Given the description of an element on the screen output the (x, y) to click on. 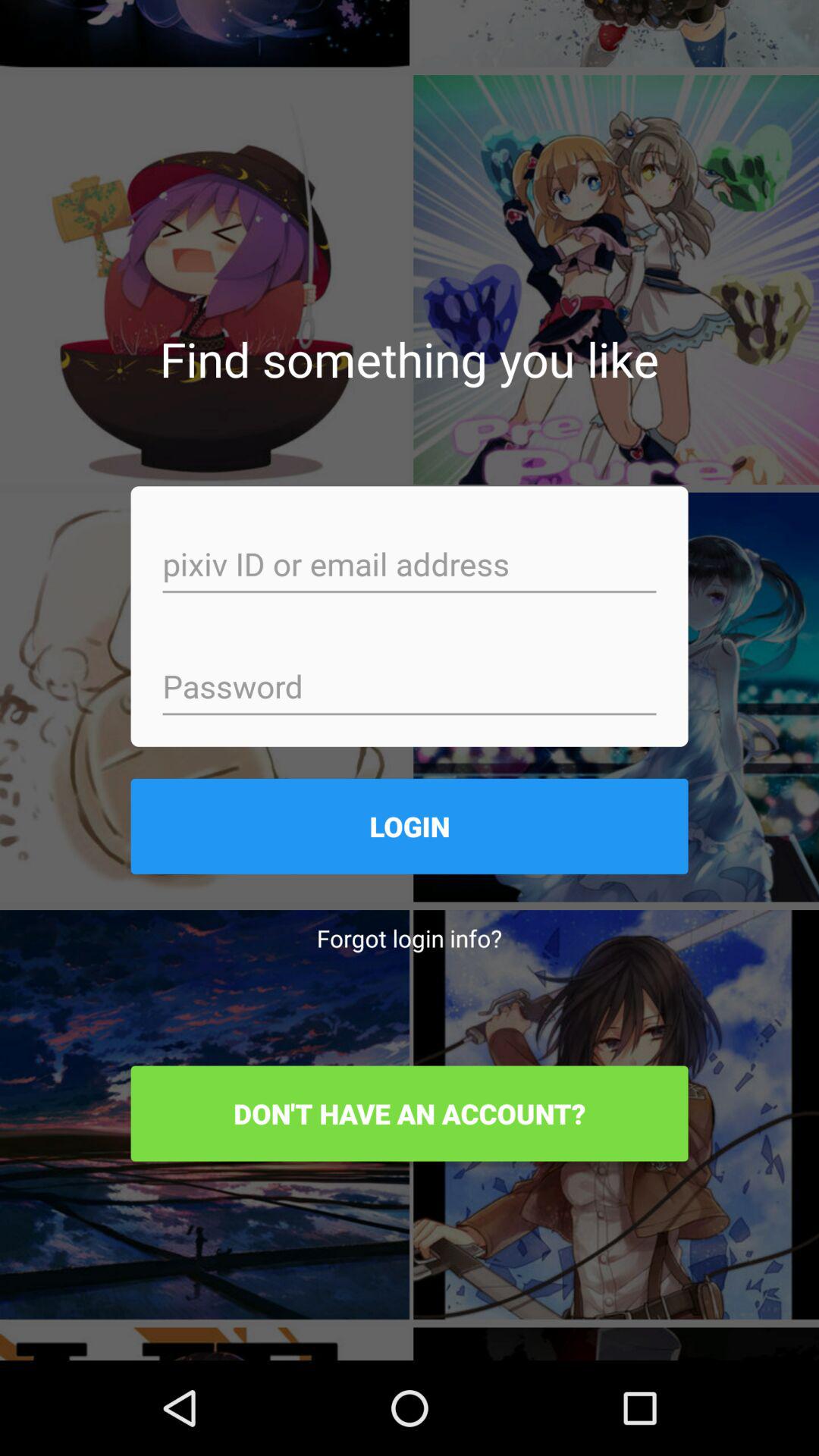
enter password (409, 688)
